Given the description of an element on the screen output the (x, y) to click on. 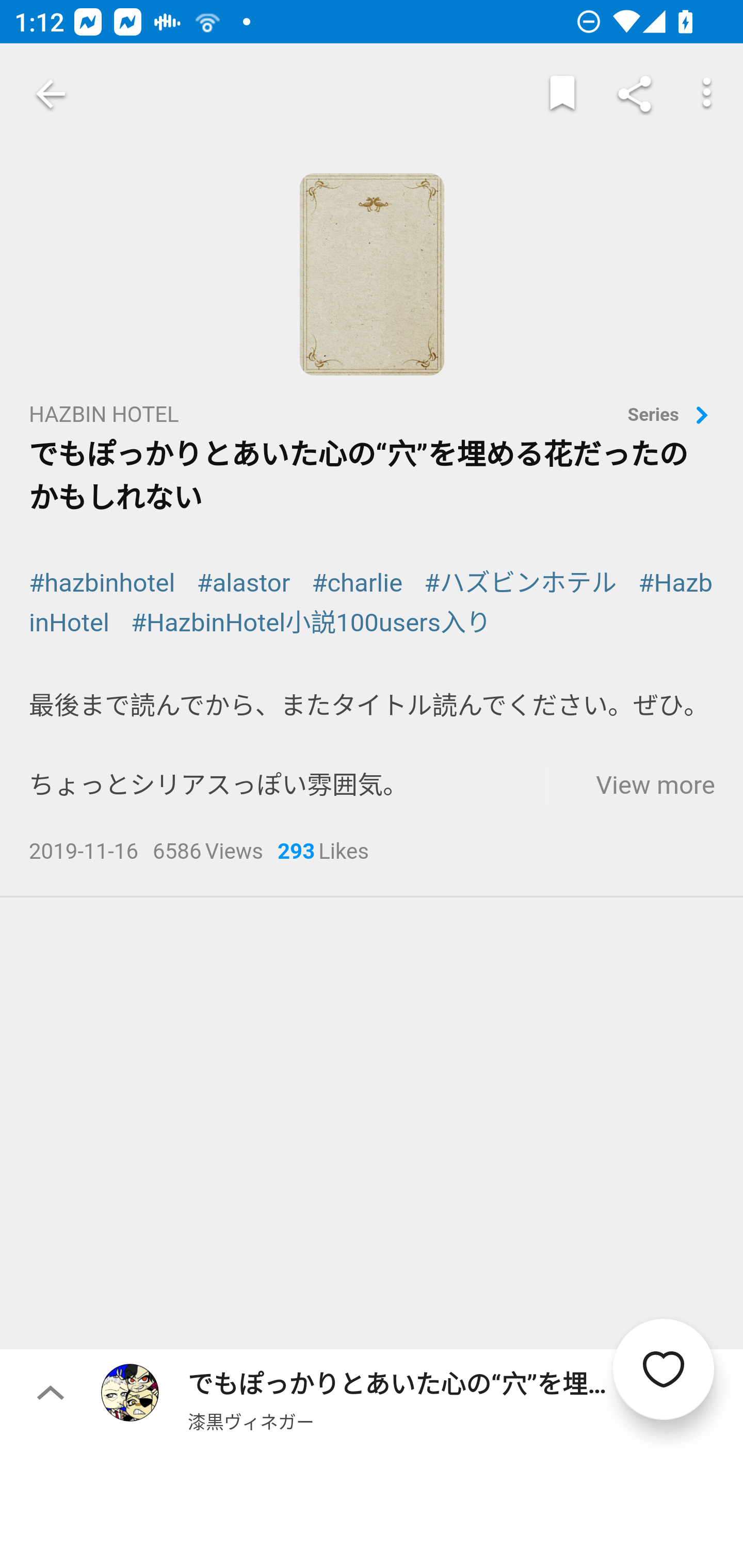
Navigate up (50, 93)
Markers (562, 93)
Share (634, 93)
More options (706, 93)
Series (671, 416)
#hazbinhotel (102, 582)
#alastor (242, 582)
#charlie (357, 582)
#ハズビンホテル (519, 582)
#HazbinHotel小説100users入り (311, 622)
View more (654, 785)
293Likes (323, 852)
漆黒ヴィネガー (250, 1421)
